Given the description of an element on the screen output the (x, y) to click on. 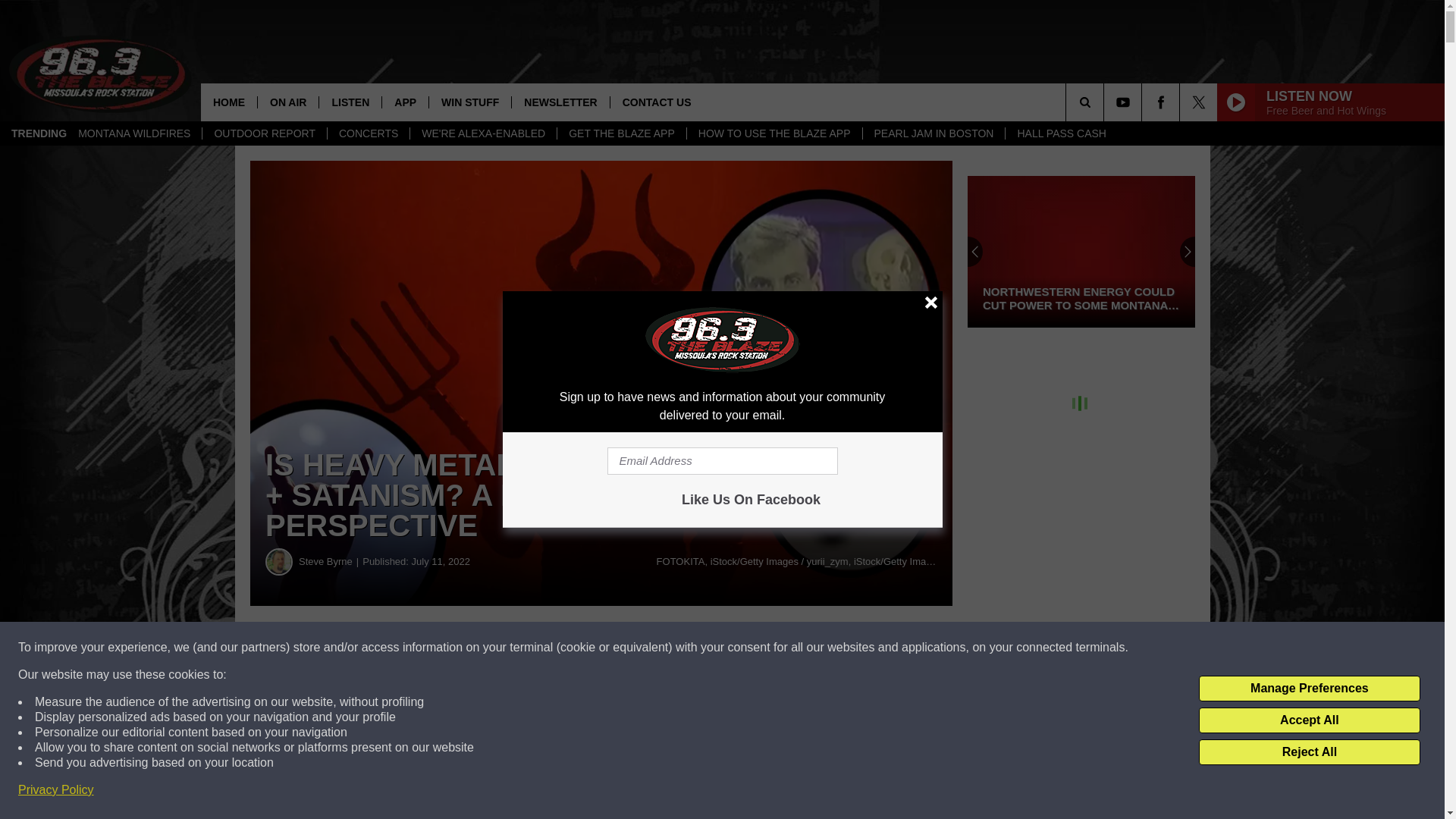
HOME (228, 102)
NEWSLETTER (559, 102)
Share on Twitter (741, 647)
ON AIR (287, 102)
Accept All (1309, 720)
SEARCH (1106, 102)
HOW TO USE THE BLAZE APP (773, 133)
Email Address (722, 461)
APP (404, 102)
Privacy Policy (55, 789)
HALL PASS CASH (1061, 133)
WIN STUFF (469, 102)
CONCERTS (367, 133)
MONTANA WILDFIRES (134, 133)
GET THE BLAZE APP (620, 133)
